Given the description of an element on the screen output the (x, y) to click on. 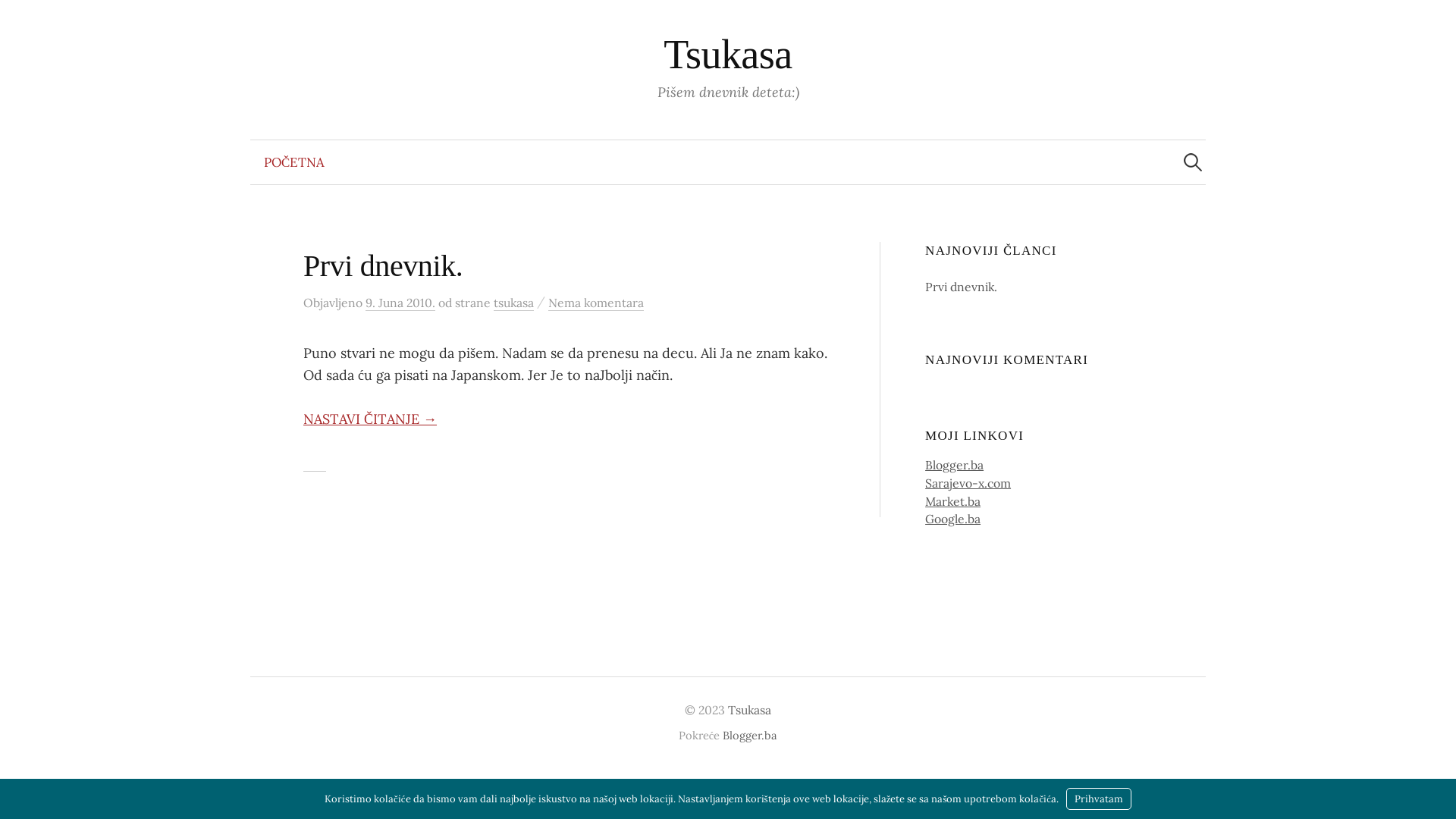
Prihvatam Element type: text (1098, 798)
Google.ba Element type: text (952, 518)
Prvi dnevnik. Element type: text (382, 265)
tsukasa Element type: text (513, 302)
Blogger.ba Element type: text (749, 735)
Tsukasa Element type: text (727, 54)
Pretraga Element type: text (18, 18)
Market.ba Element type: text (952, 500)
9. Juna 2010. Element type: text (400, 302)
Prvi dnevnik. Element type: text (961, 286)
Blogger.ba Element type: text (954, 464)
Sarajevo-x.com Element type: text (967, 482)
Tsukasa Element type: text (749, 709)
Nema komentara
na Prvi dnevnik. Element type: text (595, 302)
